Given the description of an element on the screen output the (x, y) to click on. 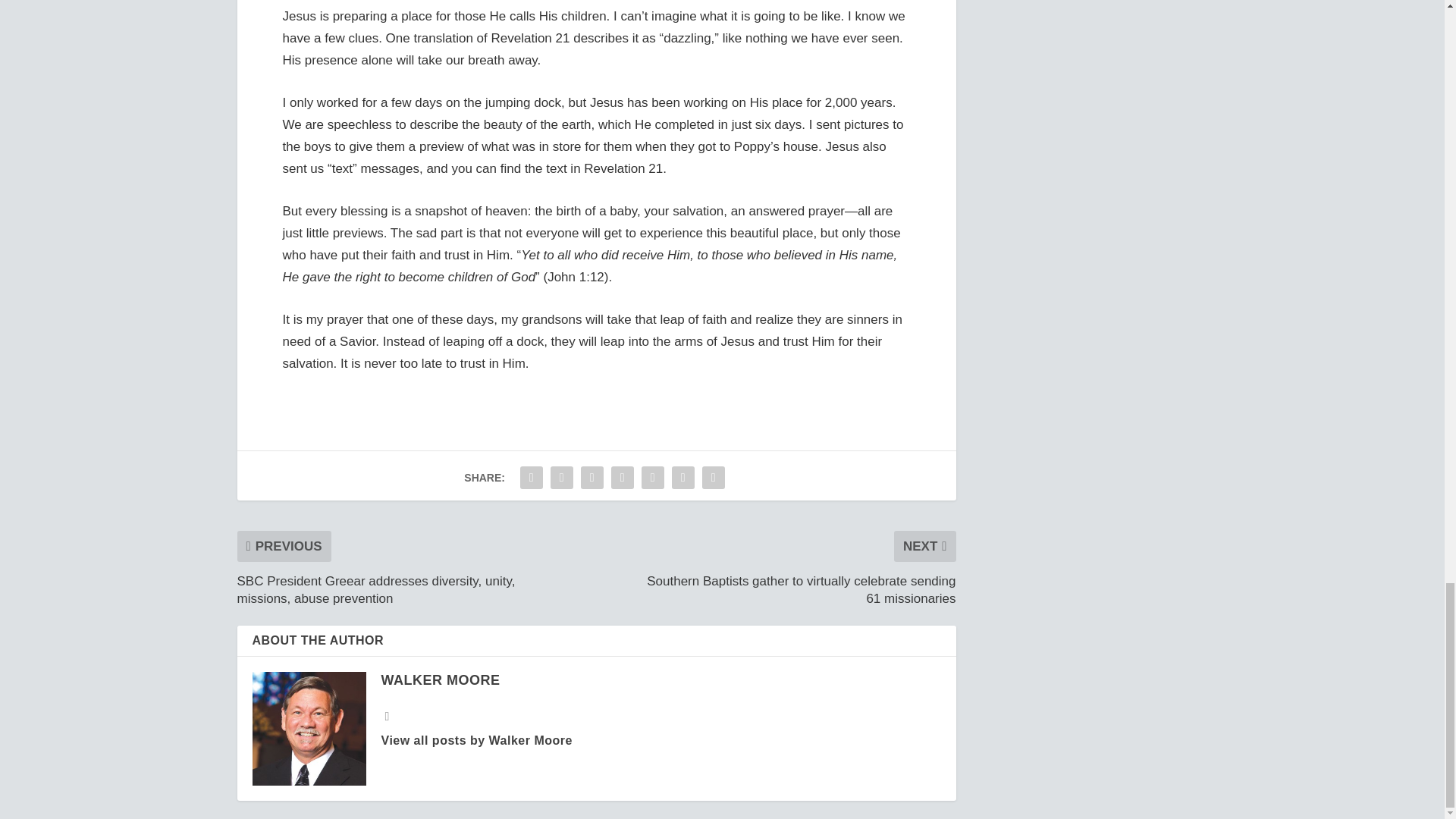
View all posts by Walker Moore (439, 679)
View all posts by Walker Moore (476, 739)
Share "Rite of passage: Preparing a place" via Pinterest (622, 477)
Share "Rite of passage: Preparing a place" via LinkedIn (652, 477)
Share "Rite of passage: Preparing a place" via Twitter (561, 477)
Share "Rite of passage: Preparing a place" via Email (683, 477)
Share "Rite of passage: Preparing a place" via Print (713, 477)
Share "Rite of passage: Preparing a place" via Facebook (531, 477)
